Given the description of an element on the screen output the (x, y) to click on. 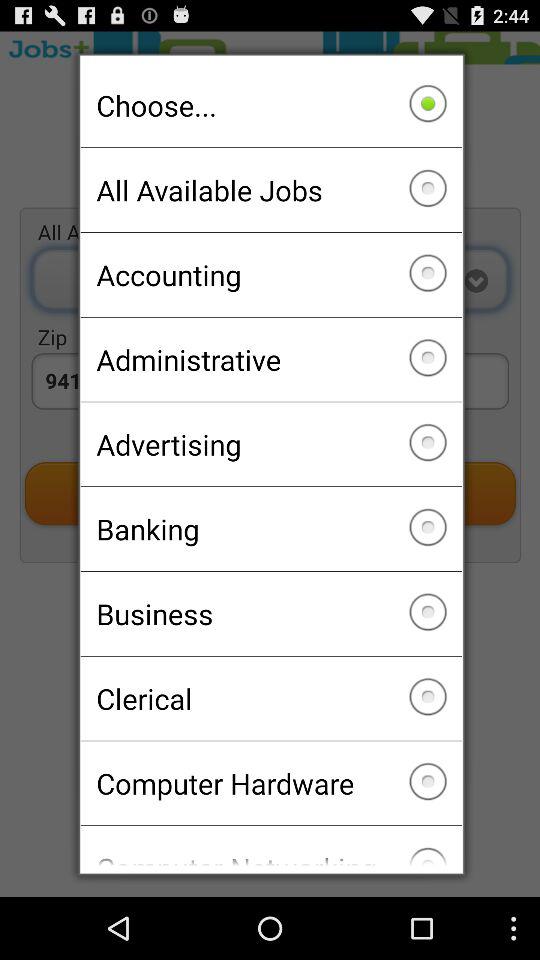
launch the item above the clerical icon (270, 613)
